Given the description of an element on the screen output the (x, y) to click on. 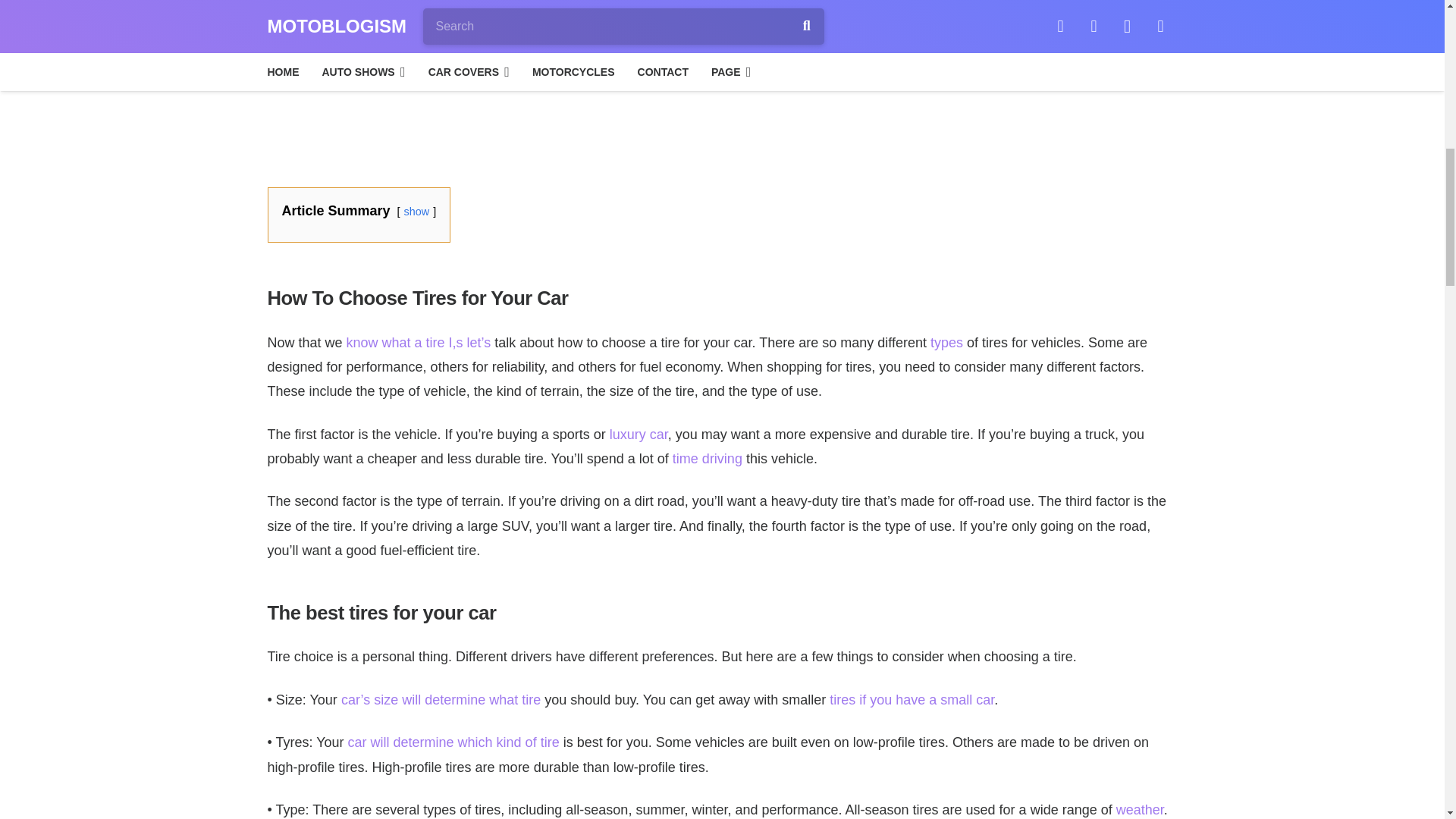
The Most Expensive Luxury Cars in the World (639, 434)
Tires - Which Tire Brands Are the Best for Cars? 1 (721, 81)
show (416, 211)
